Given the description of an element on the screen output the (x, y) to click on. 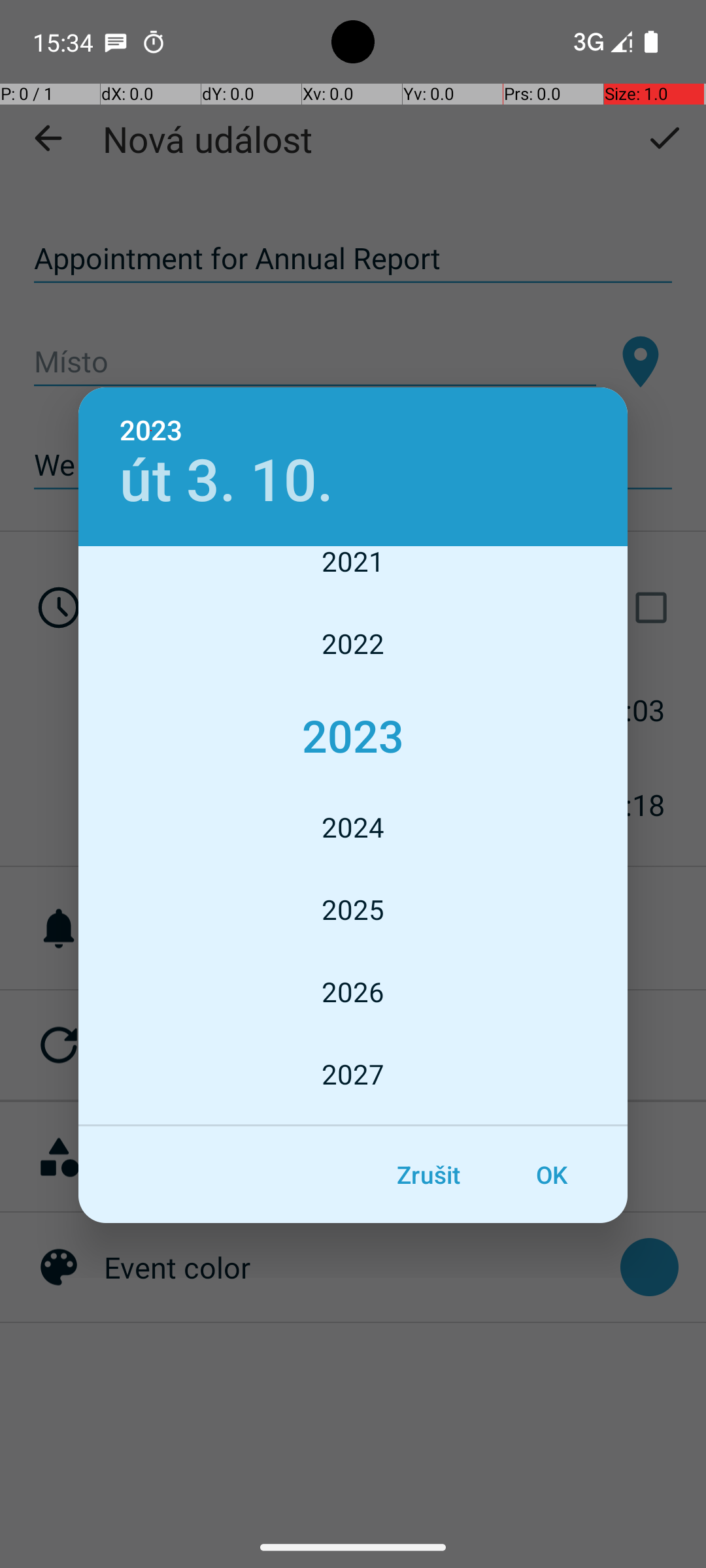
út 3. 10. Element type: android.widget.TextView (226, 480)
2027 Element type: android.widget.TextView (352, 1073)
2028 Element type: android.widget.TextView (352, 1120)
